Given the description of an element on the screen output the (x, y) to click on. 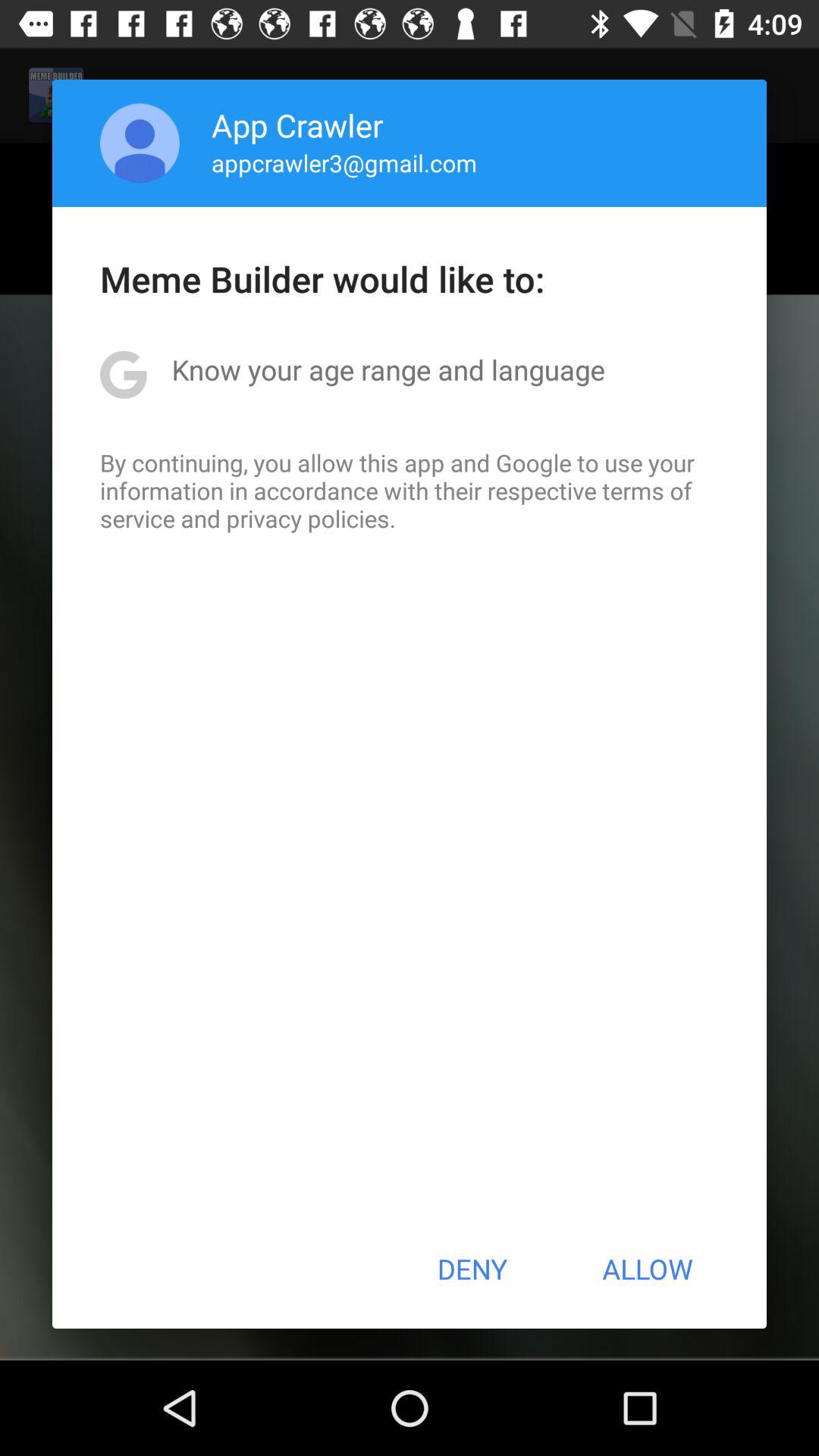
jump to the know your age item (388, 369)
